Given the description of an element on the screen output the (x, y) to click on. 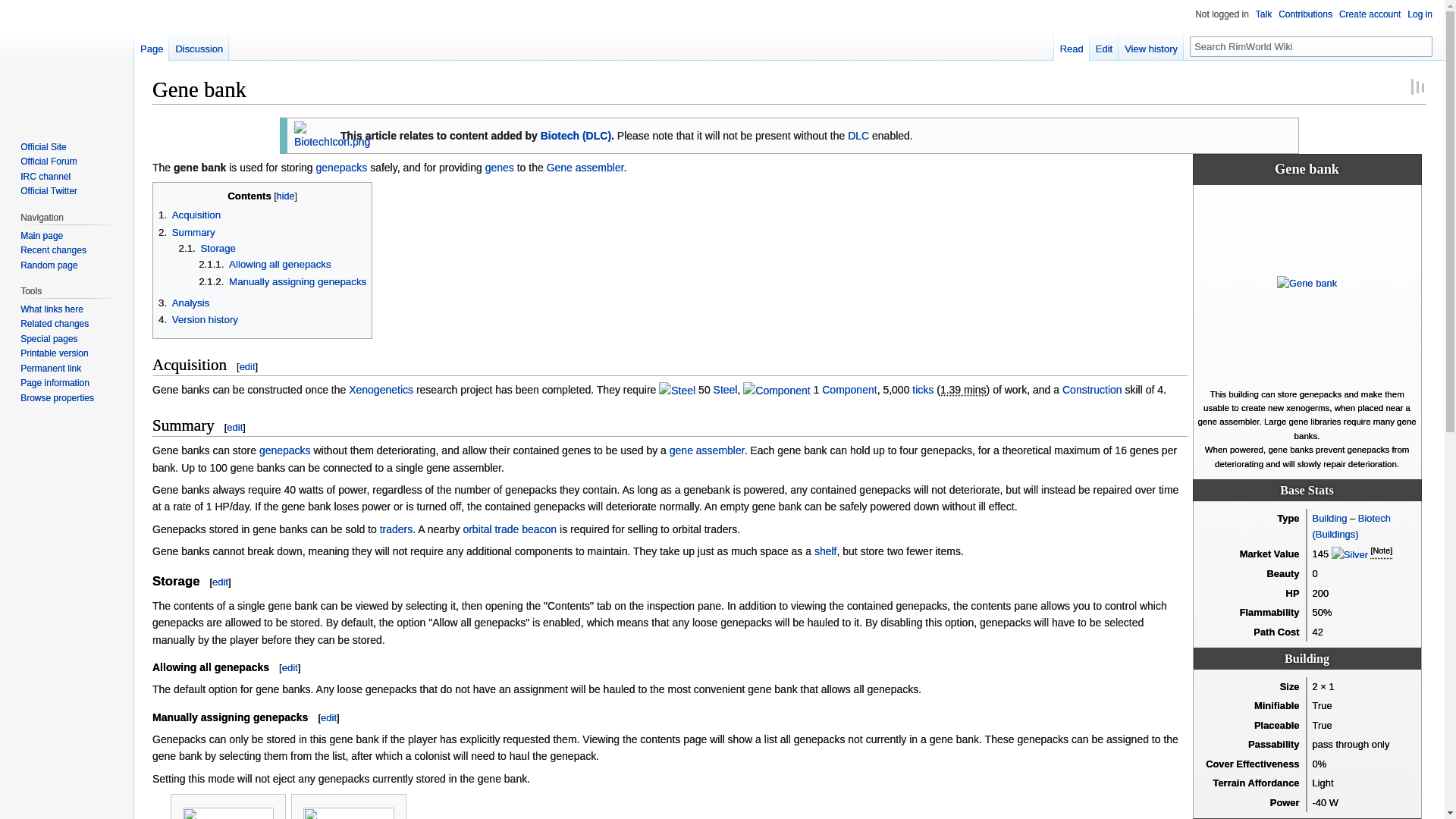
3 Analysis (183, 302)
2.1.1 Allowing all genepacks (264, 264)
Search (1422, 46)
Search (1422, 46)
2 Summary (186, 231)
Go (1422, 46)
Xenogenetics (381, 389)
edit (235, 427)
Construction (1092, 389)
Go (1422, 46)
